Given the description of an element on the screen output the (x, y) to click on. 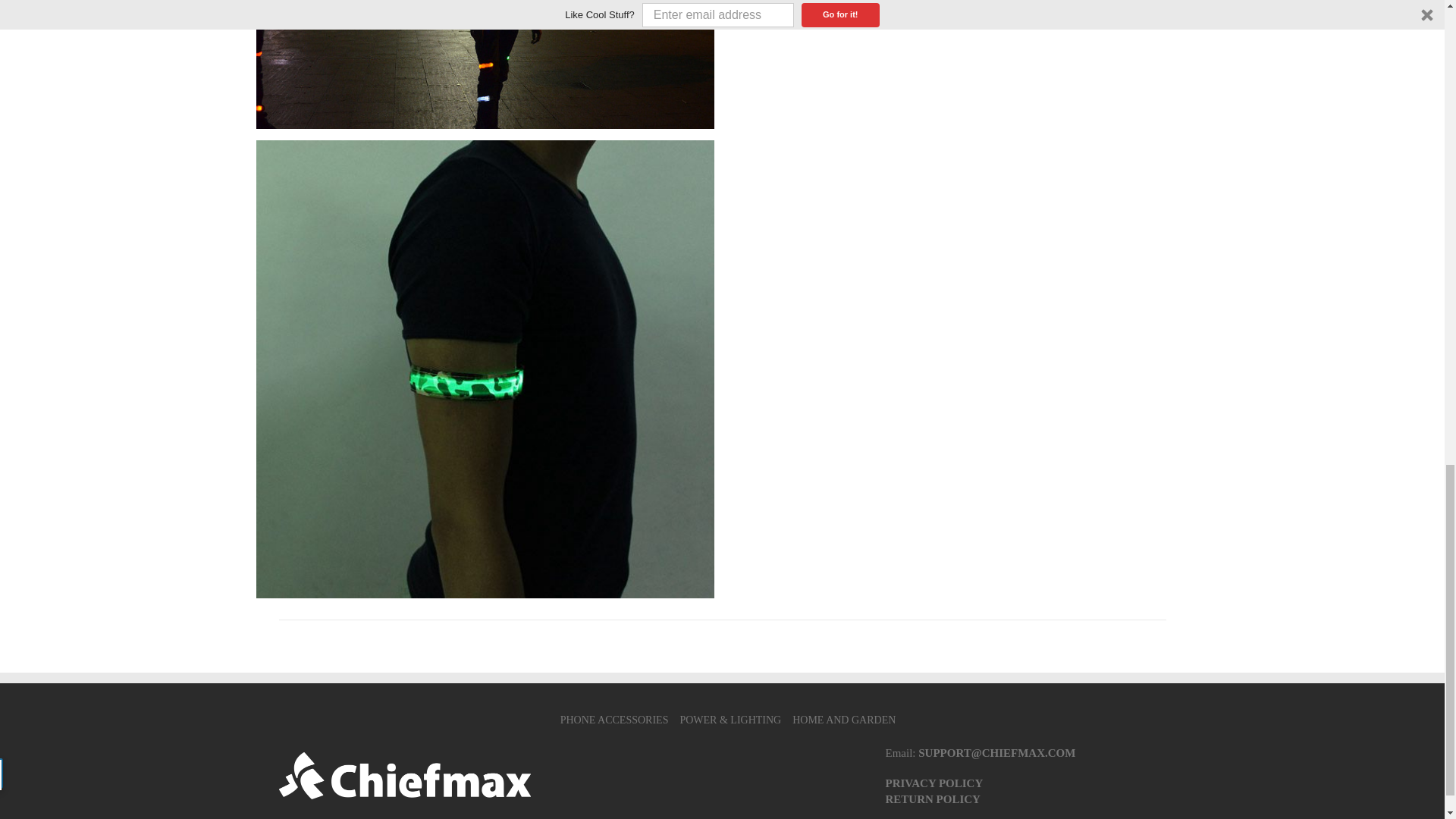
PHONE ACCESSORIES (614, 719)
HOME AND GARDEN (843, 719)
PRIVACY POLICY (934, 783)
RETURN POLICY (932, 799)
